Given the description of an element on the screen output the (x, y) to click on. 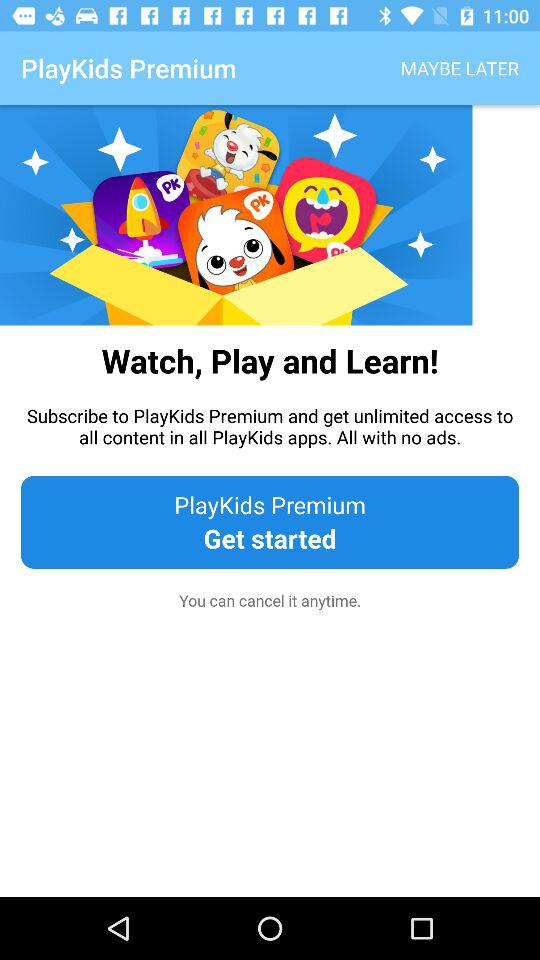
press maybe later item (459, 67)
